Given the description of an element on the screen output the (x, y) to click on. 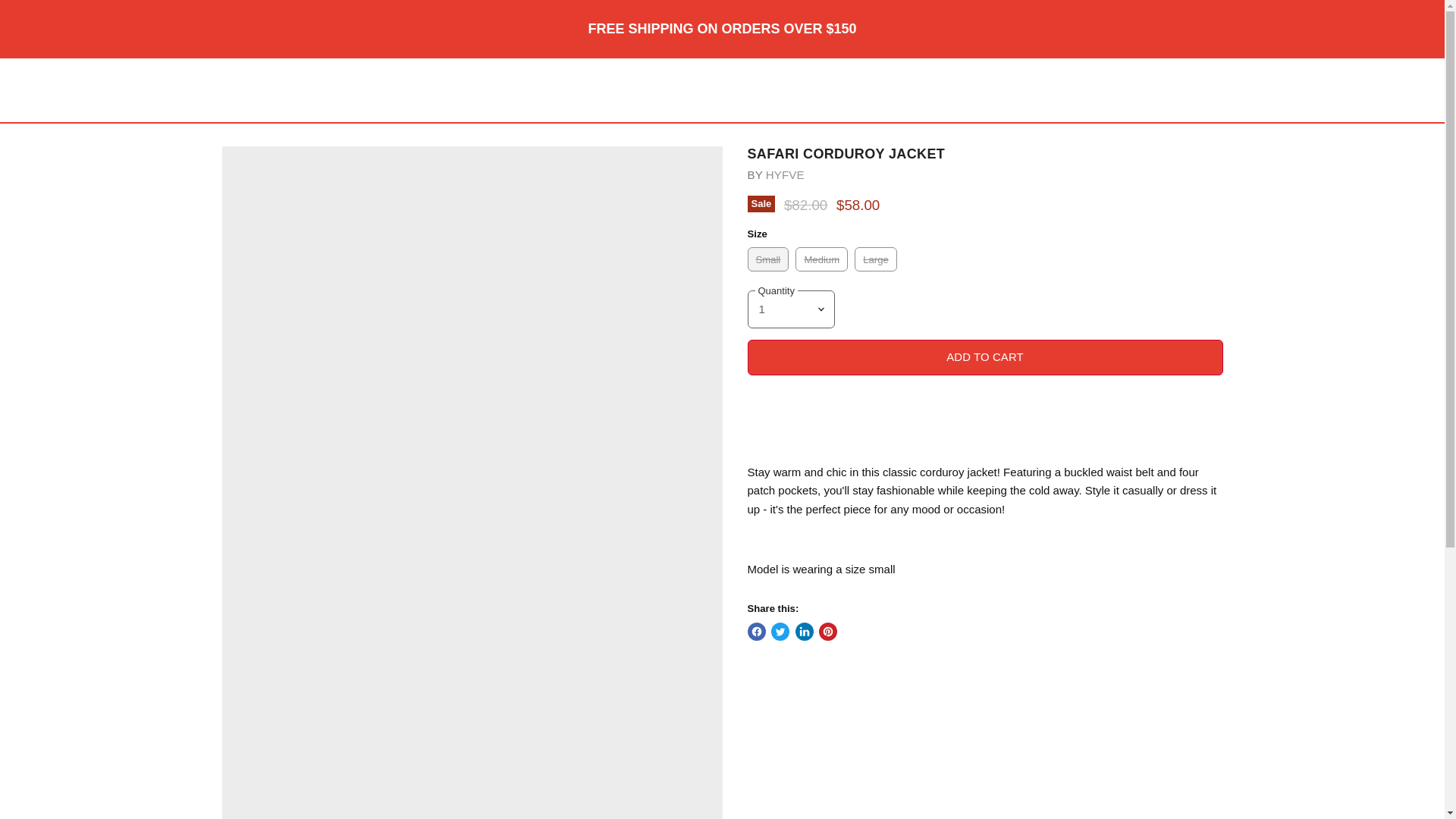
HYFVE (785, 174)
